Given the description of an element on the screen output the (x, y) to click on. 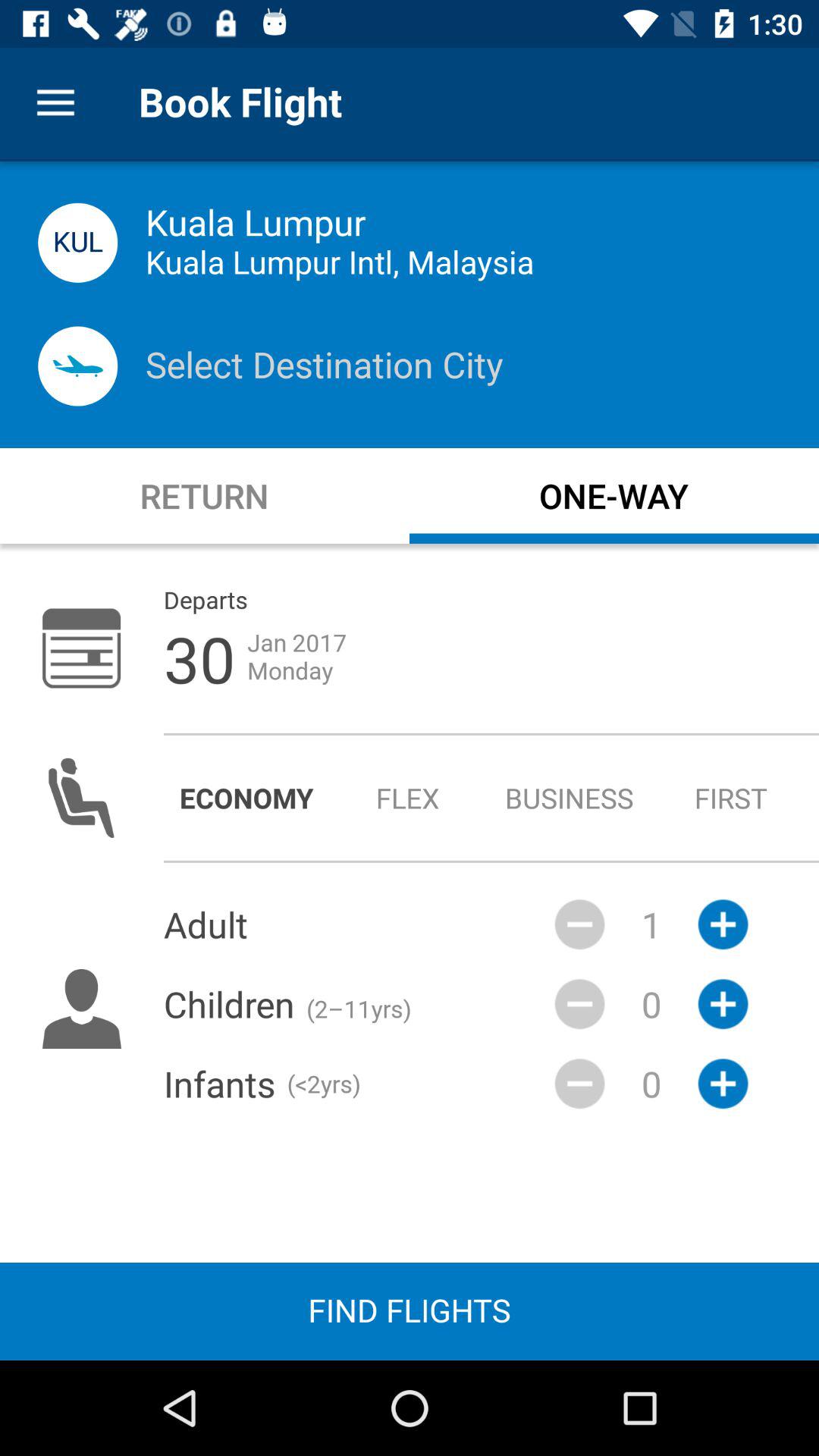
turn on item next to book flight item (55, 103)
